Given the description of an element on the screen output the (x, y) to click on. 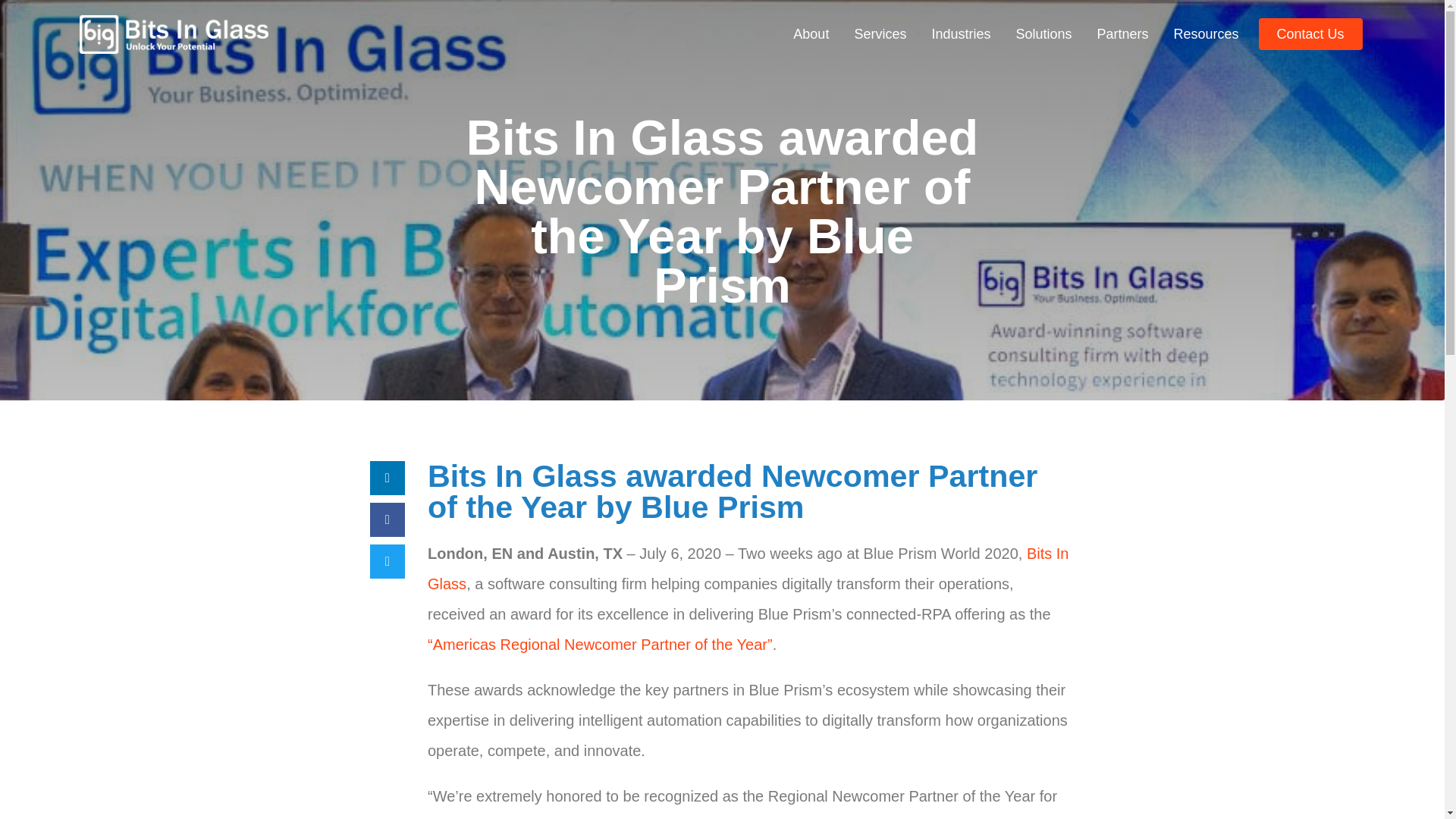
Bits In Glass (748, 568)
Solutions (1042, 33)
Partners (1122, 33)
Services (879, 33)
Industries (960, 33)
About (810, 33)
Contact Us (1310, 33)
Resources (1206, 33)
